Given the description of an element on the screen output the (x, y) to click on. 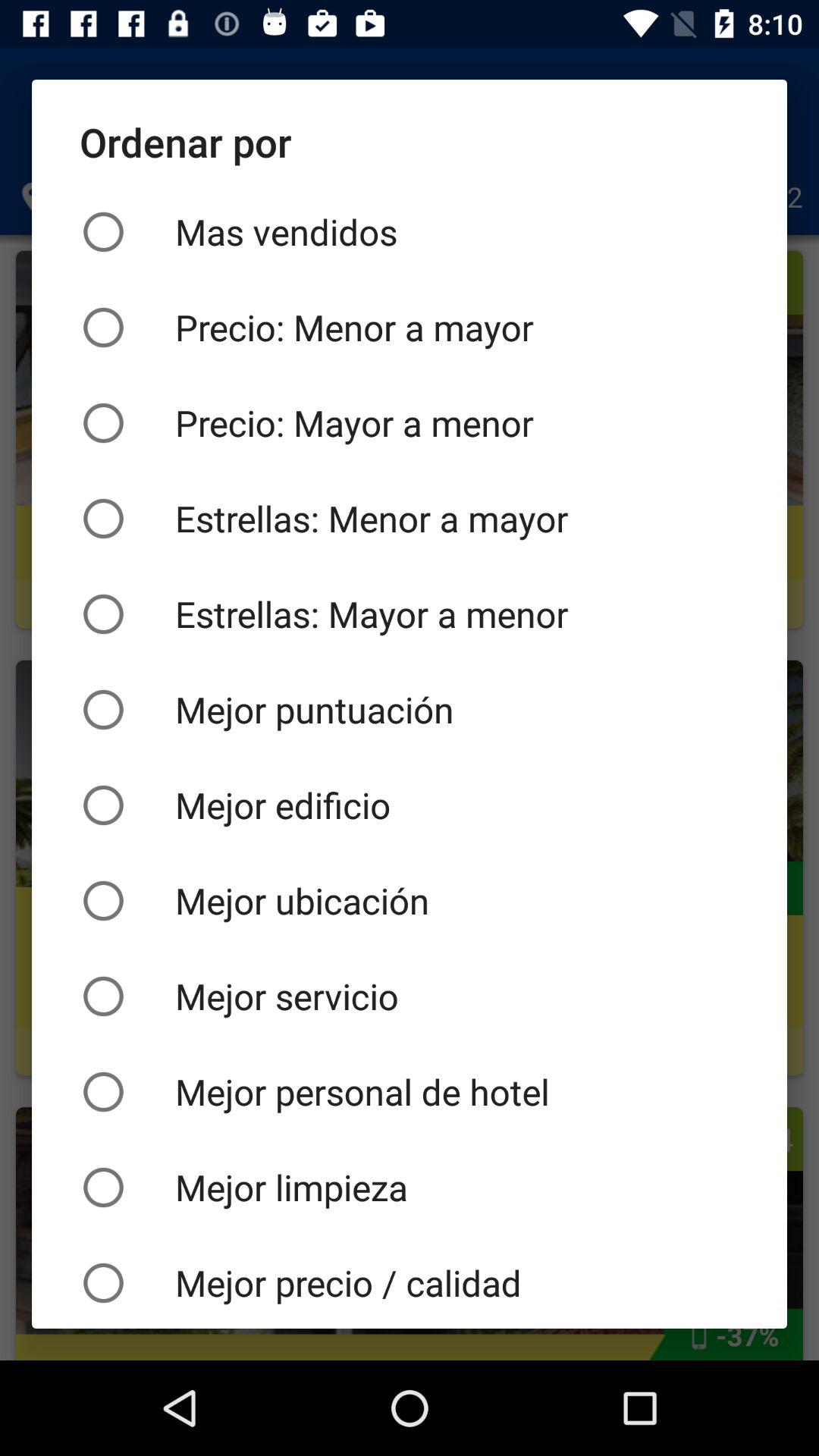
tap the icon below ordenar por item (409, 231)
